Given the description of an element on the screen output the (x, y) to click on. 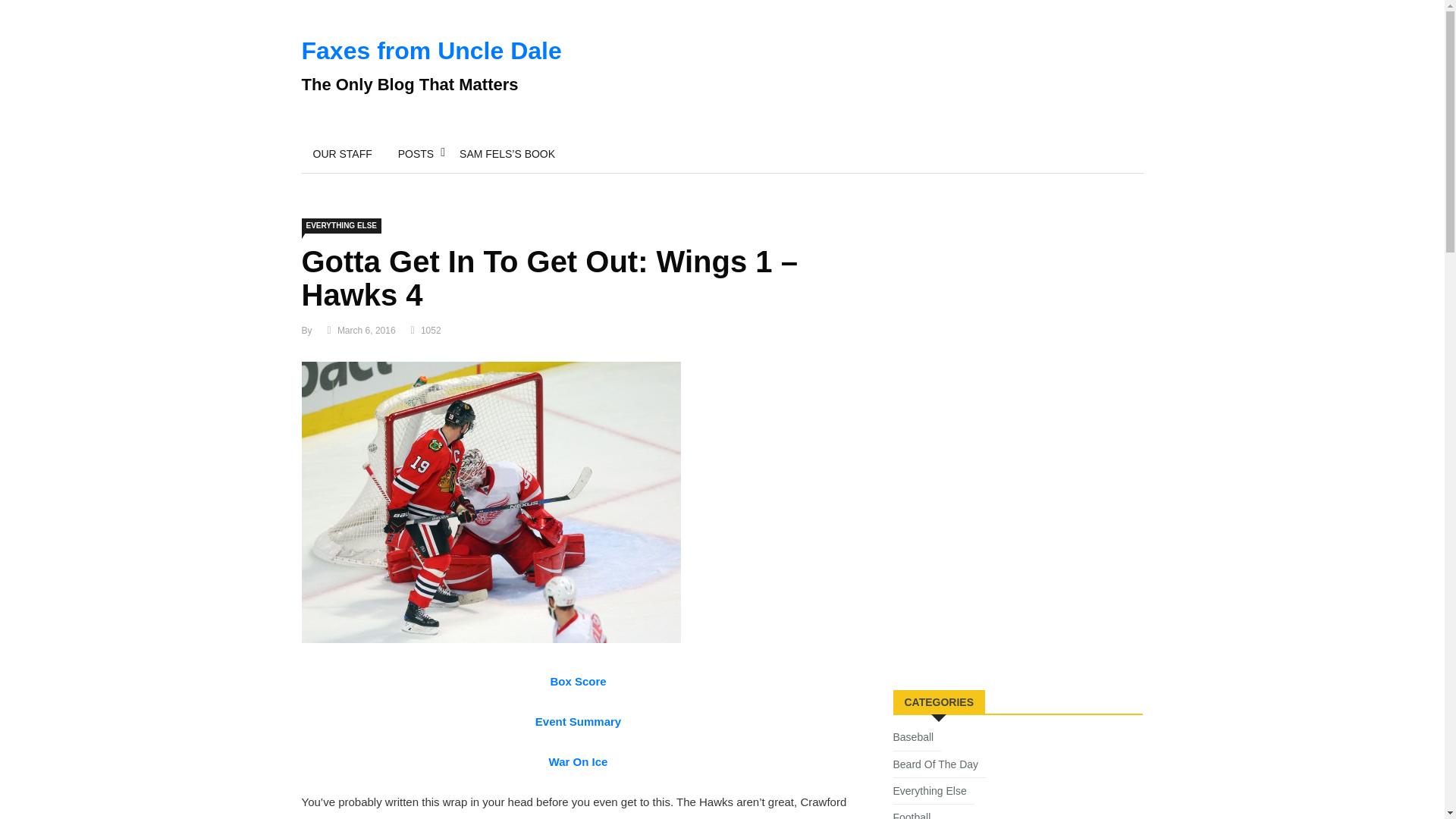
Box Score (577, 680)
Beard Of The Day (940, 767)
Advertisement (1007, 560)
Event Summary (578, 721)
OUR STAFF (342, 153)
POSTS (416, 153)
Everything Else (933, 793)
EVERYTHING ELSE (341, 225)
Football (916, 814)
Faxes from Uncle Dale (431, 50)
War On Ice (578, 761)
Baseball (917, 740)
